Given the description of an element on the screen output the (x, y) to click on. 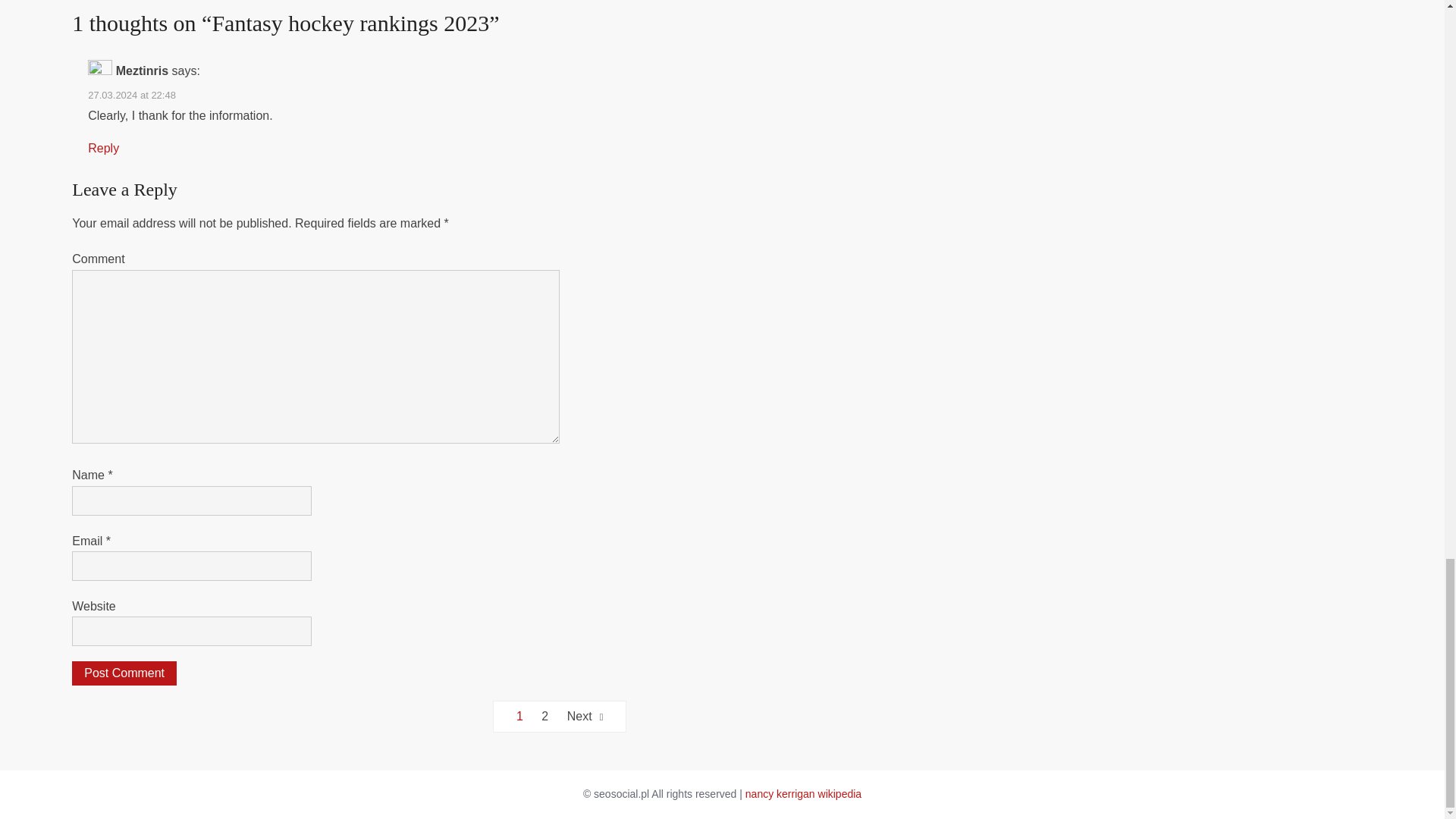
Next (585, 716)
Reply (103, 147)
nancy kerrigan wikipedia (803, 793)
27.03.2024 at 22:48 (131, 94)
Post Comment (123, 672)
Post Comment (123, 672)
